Given the description of an element on the screen output the (x, y) to click on. 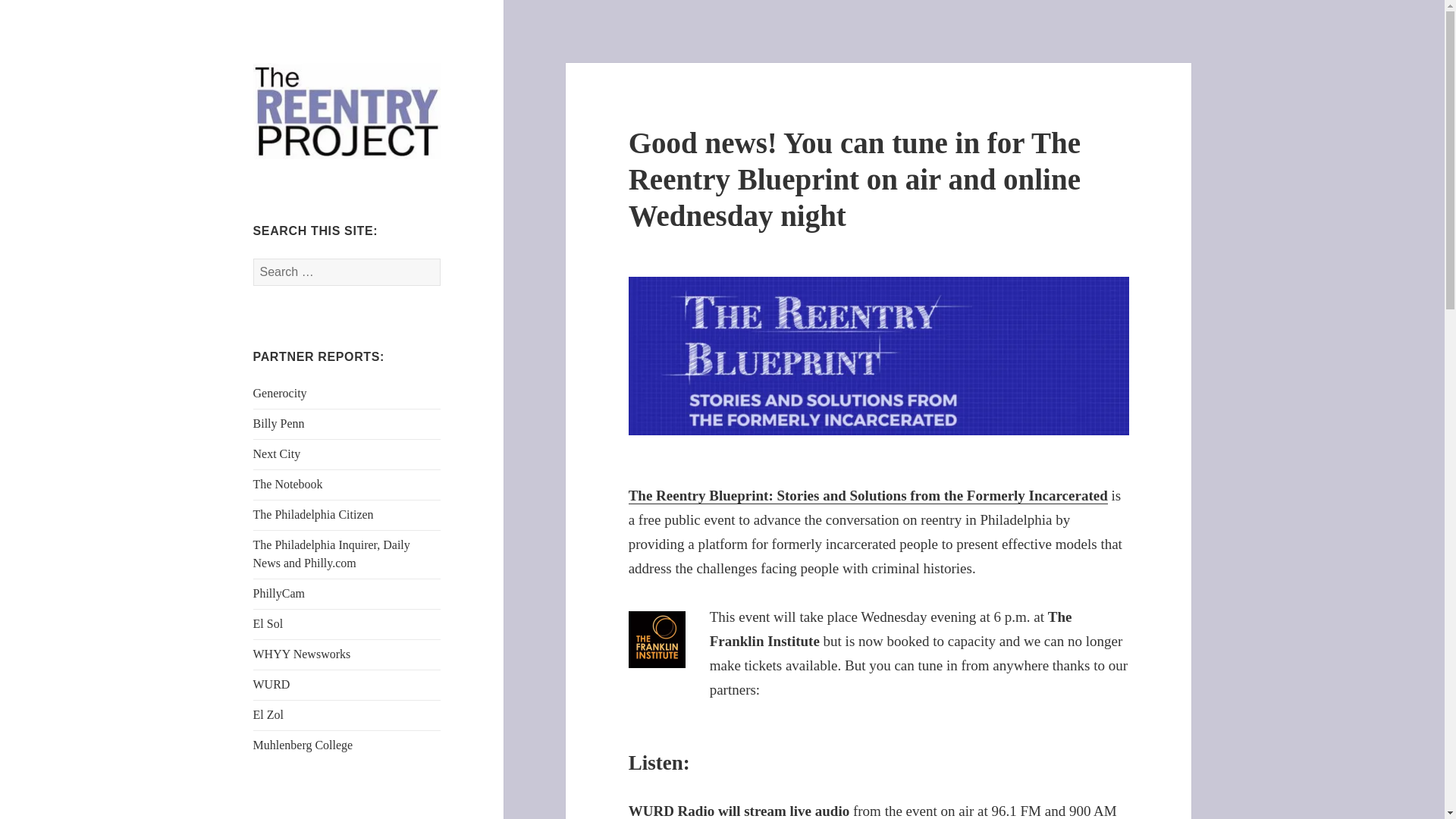
El Sol (268, 623)
WHYY Newsworks (301, 653)
The Reentry Project (312, 195)
Billy Penn (278, 422)
The Philadelphia Inquirer, Daily News and Philly.com (331, 553)
El Zol (268, 714)
Generocity (280, 392)
Muhlenberg College (303, 744)
WURD (271, 684)
Next City (277, 453)
PhillyCam (278, 593)
The Notebook (288, 483)
